Given the description of an element on the screen output the (x, y) to click on. 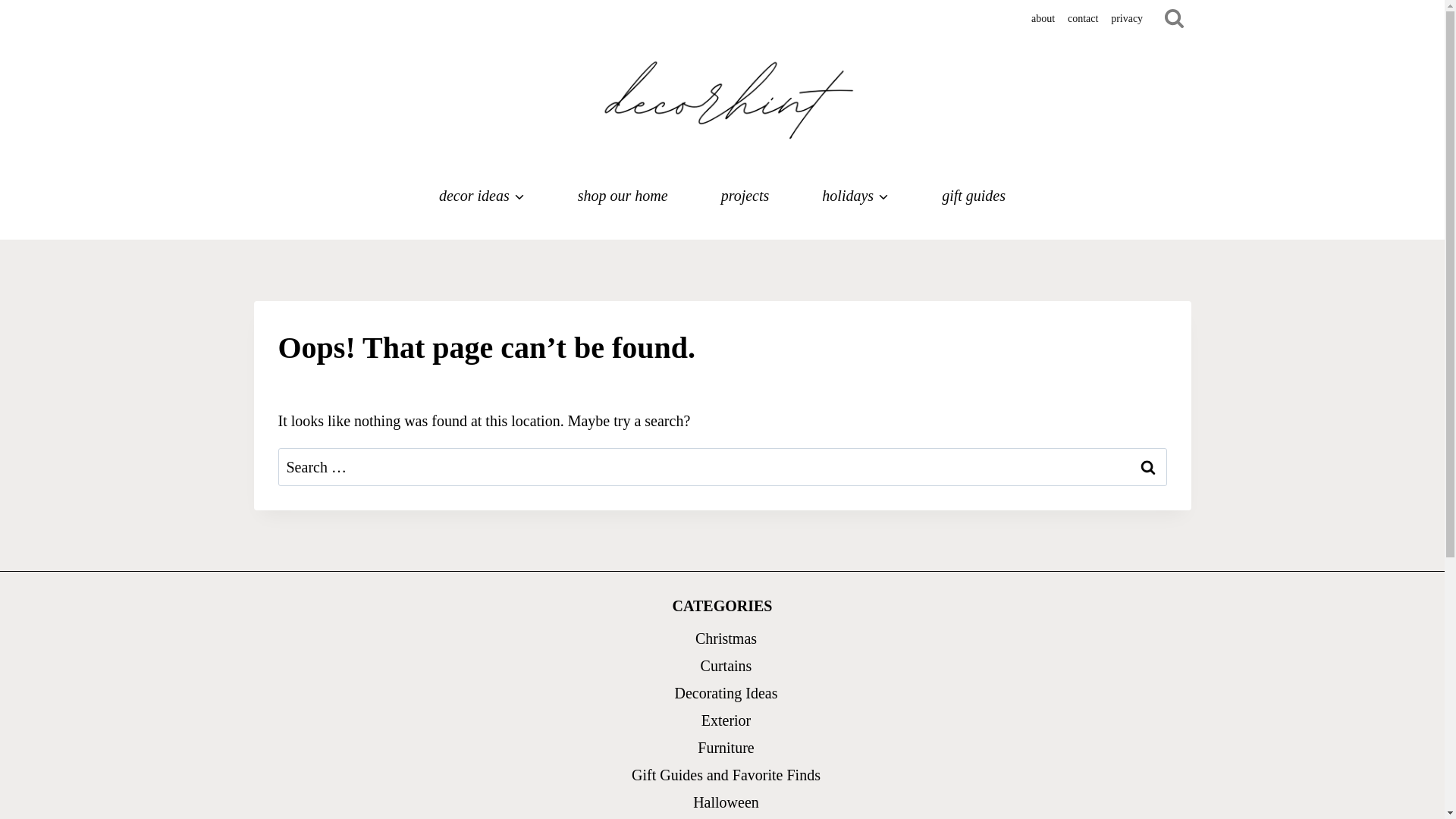
Search (1147, 466)
Search (1147, 466)
Curtains (726, 665)
projects (745, 195)
Search (1147, 466)
about (1043, 18)
Exterior (726, 719)
shop our home (622, 195)
Christmas (726, 638)
holidays (854, 195)
